Given the description of an element on the screen output the (x, y) to click on. 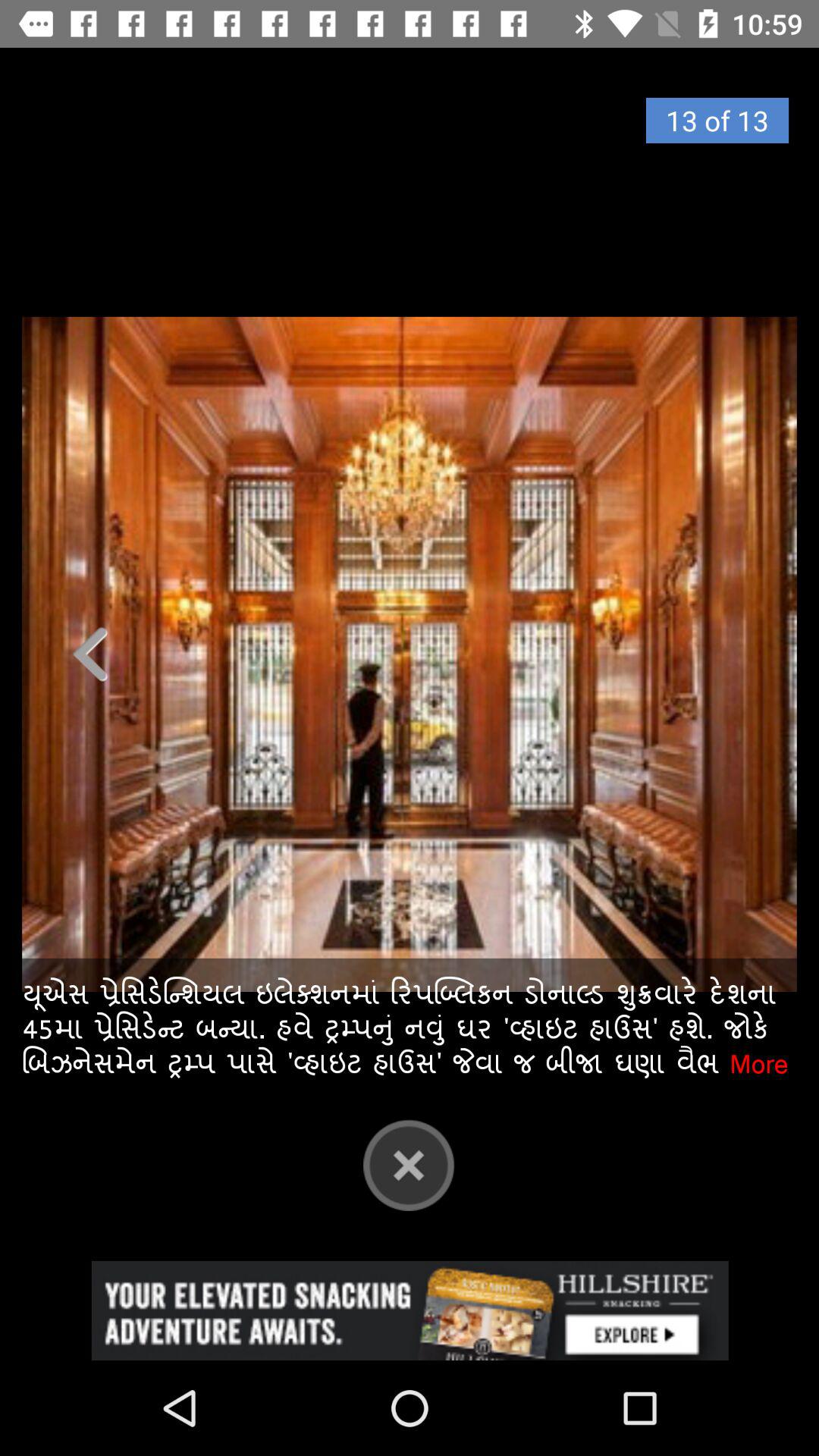
click to close (409, 1165)
